Given the description of an element on the screen output the (x, y) to click on. 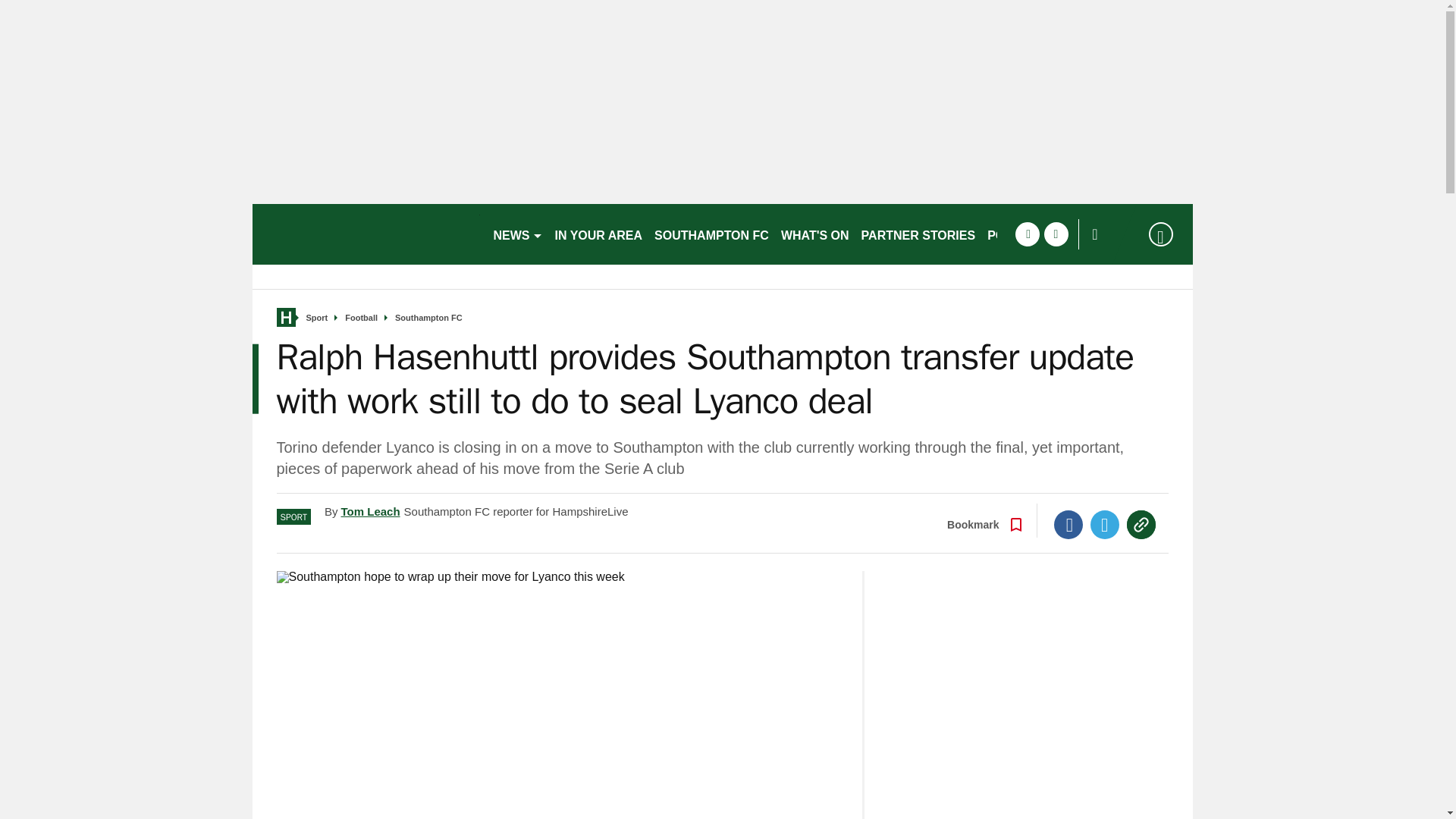
SOUTHAMPTON FC (710, 233)
PARTNER STORIES (918, 233)
PORTSMOUTH FC (1040, 233)
Facebook (1068, 524)
WHAT'S ON (815, 233)
NEWS (517, 233)
facebook (1026, 233)
hampshirelive (365, 233)
IN YOUR AREA (598, 233)
Twitter (1104, 524)
twitter (1055, 233)
